Given the description of an element on the screen output the (x, y) to click on. 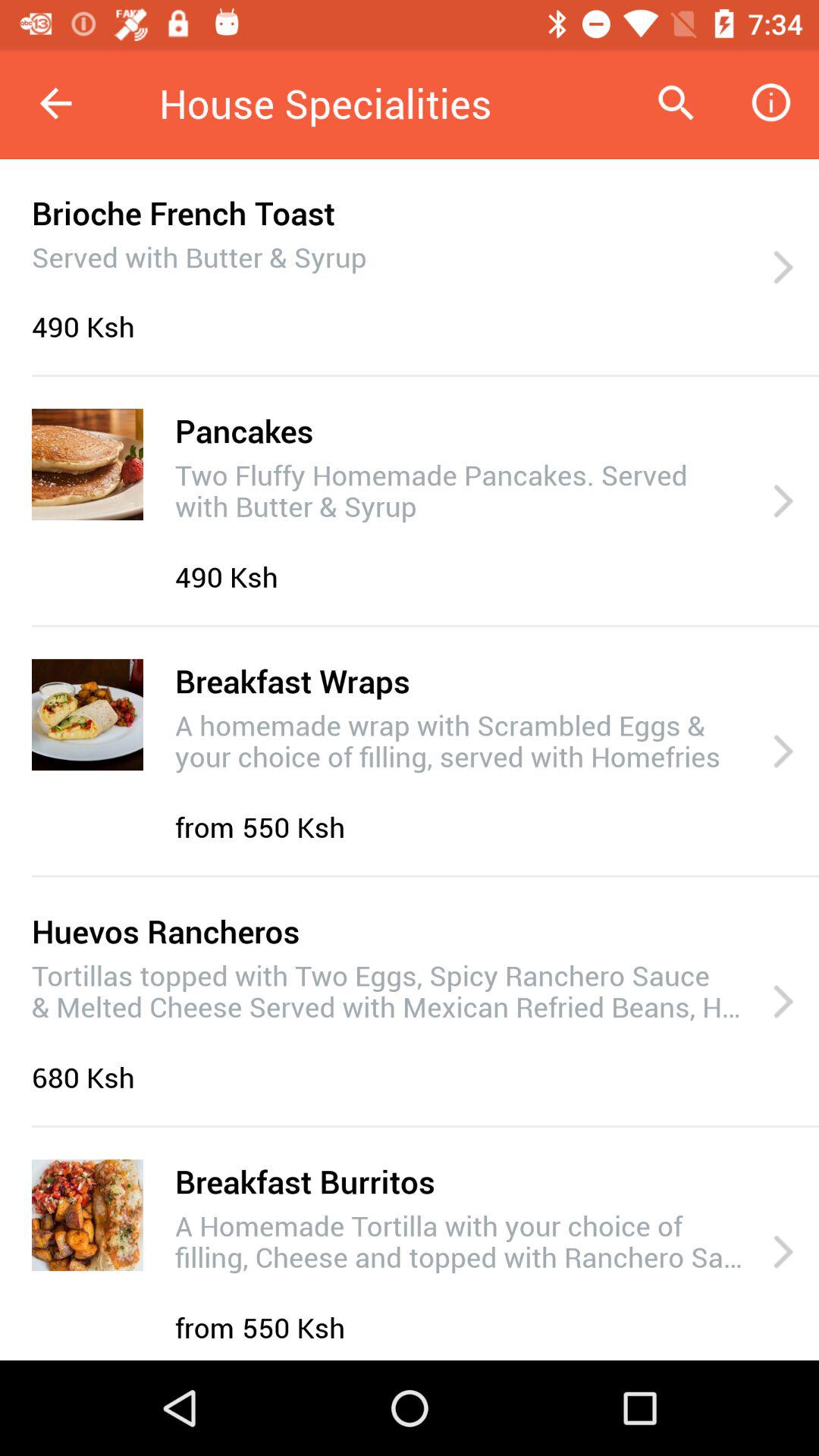
open icon to the right of the a homemade tortilla item (783, 1252)
